Given the description of an element on the screen output the (x, y) to click on. 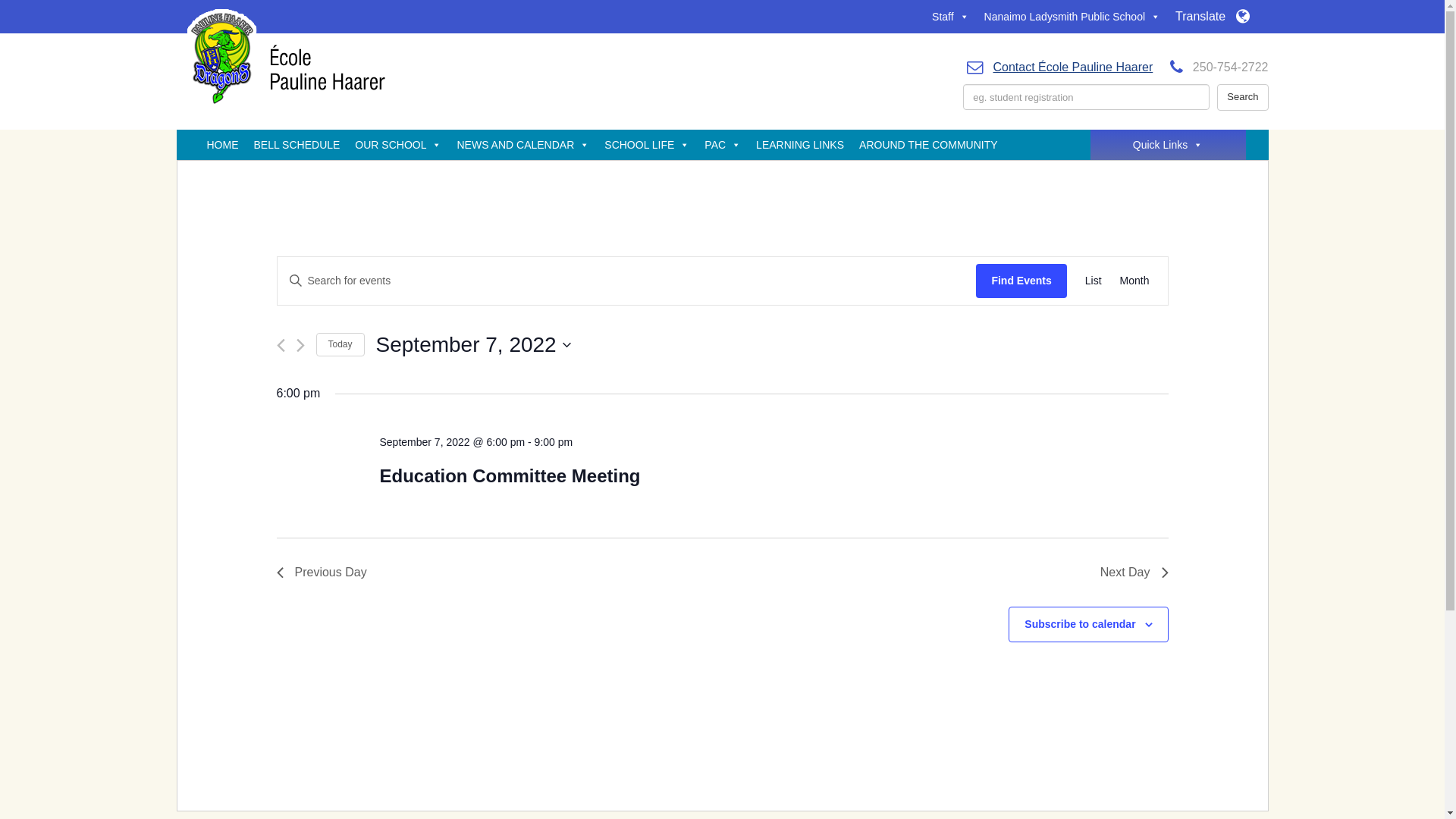
Previous Day Element type: text (321, 572)
BELL SCHEDULE Element type: text (296, 144)
HOME Element type: text (221, 144)
LEARNING LINKS Element type: text (799, 144)
Education Committee Meeting Element type: text (509, 475)
Previous day Element type: hover (280, 345)
Month Element type: text (1134, 280)
Find Events Element type: text (1020, 280)
List Element type: text (1093, 280)
Next day Element type: hover (299, 345)
Staff Element type: text (950, 16)
Search Element type: text (1242, 97)
OUR SCHOOL Element type: text (397, 144)
Nanaimo Ladysmith Public School Element type: text (1071, 16)
Next Day Element type: text (1134, 572)
September 7, 2022 Element type: text (473, 344)
SCHOOL LIFE Element type: text (646, 144)
Today Element type: text (339, 344)
Subscribe to calendar Element type: text (1079, 624)
PAC Element type: text (722, 144)
Quick Links Element type: text (1167, 144)
NEWS AND CALENDAR Element type: text (522, 144)
AROUND THE COMMUNITY Element type: text (928, 144)
Translate   Element type: text (1211, 16)
